Given the description of an element on the screen output the (x, y) to click on. 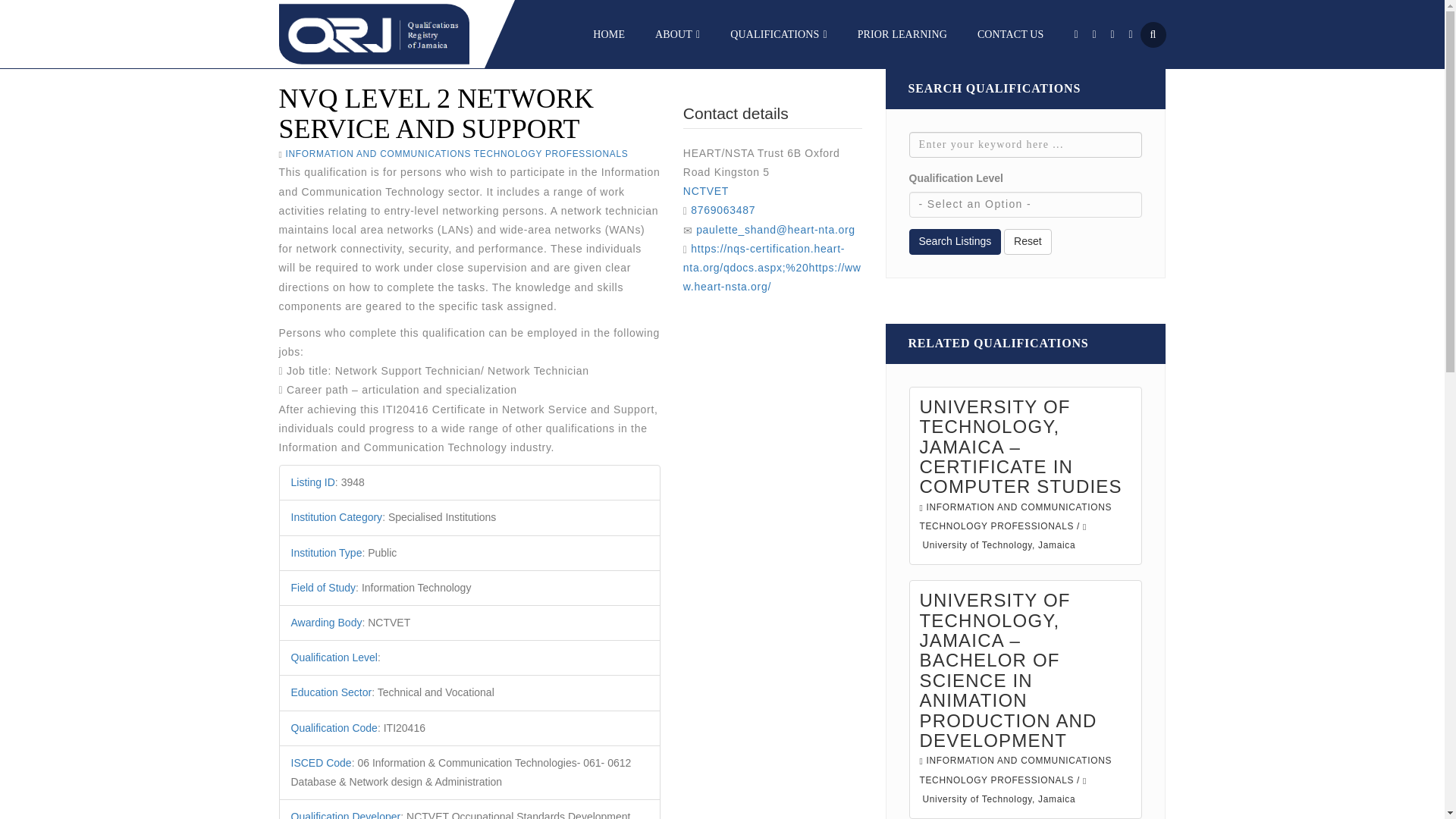
ABOUT (677, 34)
PRIOR LEARNING (902, 34)
QUALIFICATIONS (778, 34)
CONTACT US (1009, 34)
HOME (608, 34)
